Given the description of an element on the screen output the (x, y) to click on. 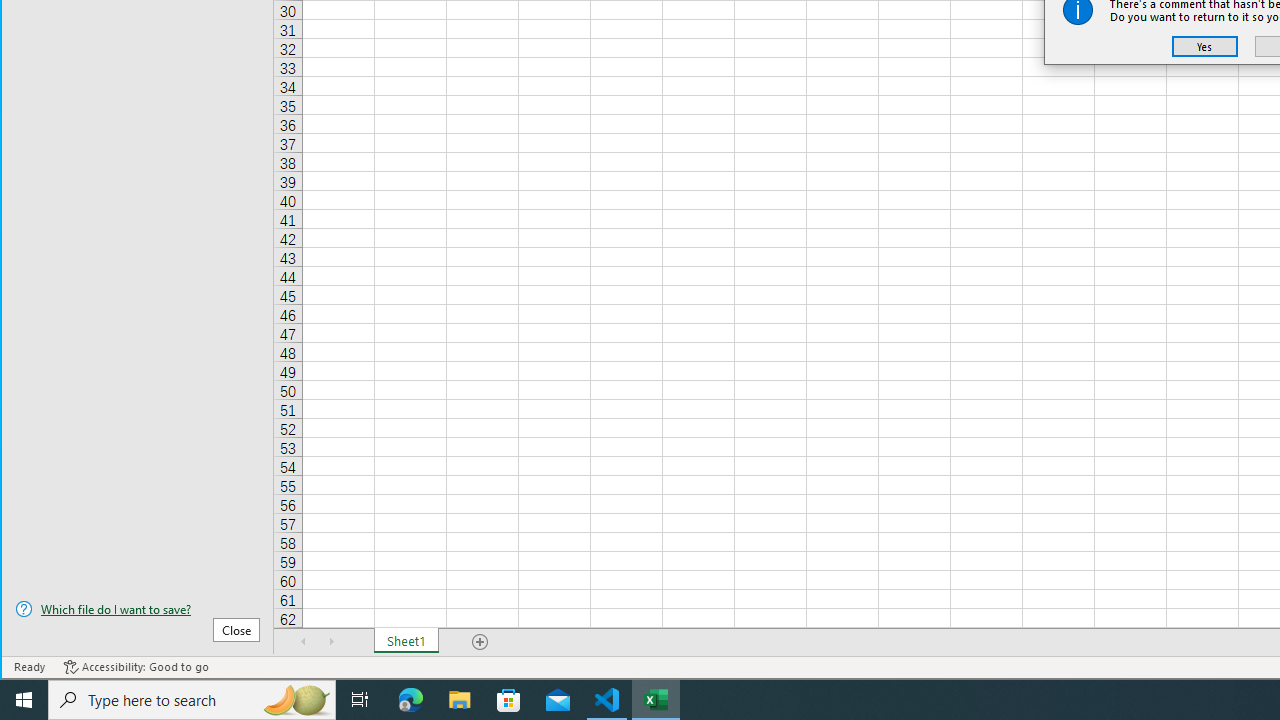
Visual Studio Code - 1 running window (607, 699)
Close (235, 629)
File Explorer (460, 699)
Which file do I want to save? (137, 609)
Add Sheet (481, 641)
Accessibility Checker Accessibility: Good to go (136, 667)
Search highlights icon opens search home window (295, 699)
Microsoft Edge (411, 699)
Scroll Right (331, 641)
Scroll Left (303, 641)
Microsoft Store (509, 699)
Type here to search (191, 699)
Start (24, 699)
Sheet1 (406, 641)
